Given the description of an element on the screen output the (x, y) to click on. 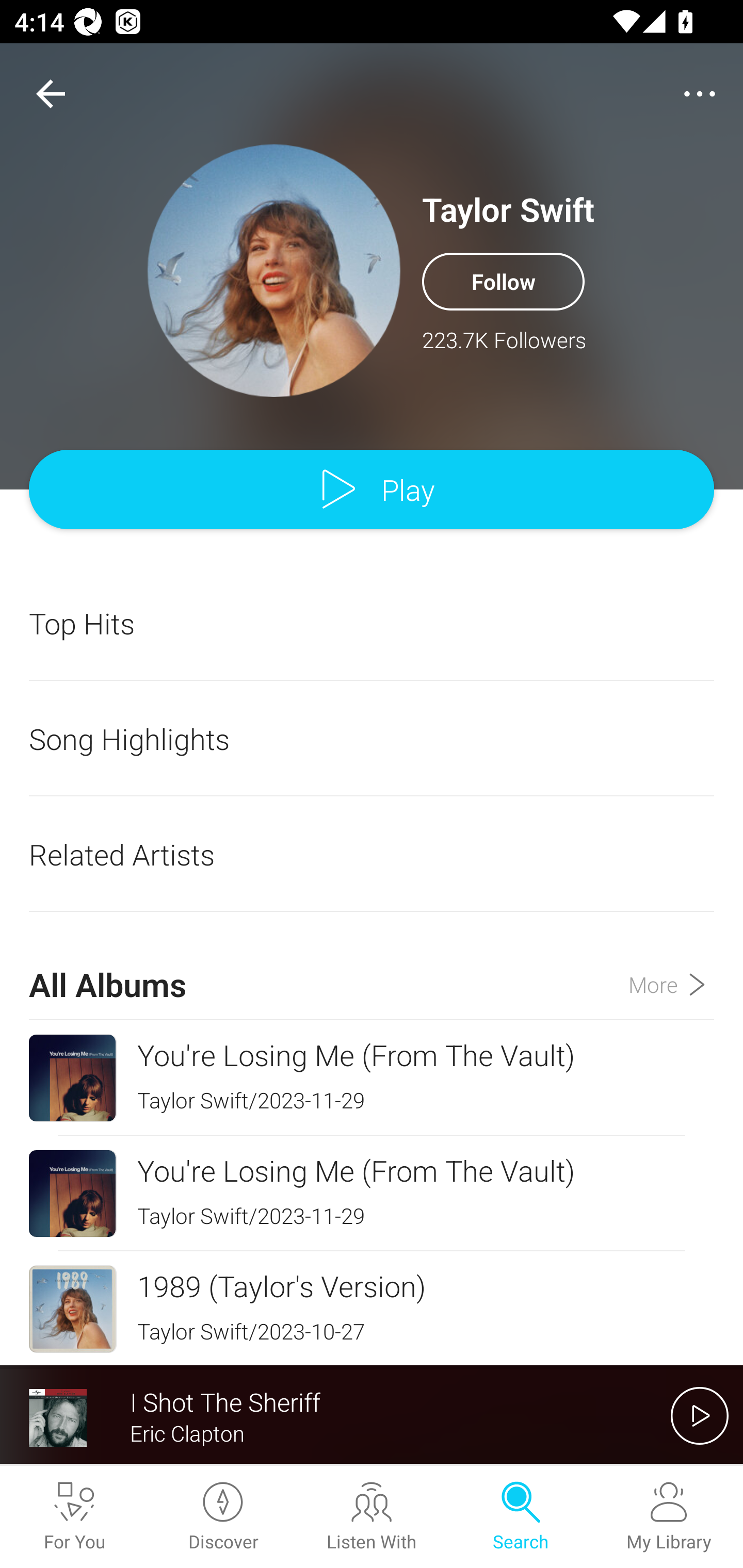
overflow (699, 93)
view_artist_avatar (273, 270)
Follow button_subscription (503, 281)
Play (371, 489)
Top Hits (371, 623)
Song Highlights (371, 738)
Related Artists (371, 854)
All Albums More (371, 966)
1989 (Taylor's Version) Taylor Swift/2023-10-27 (371, 1308)
開始播放 (699, 1415)
For You (74, 1517)
Discover (222, 1517)
Listen With (371, 1517)
Search (519, 1517)
My Library (668, 1517)
